Given the description of an element on the screen output the (x, y) to click on. 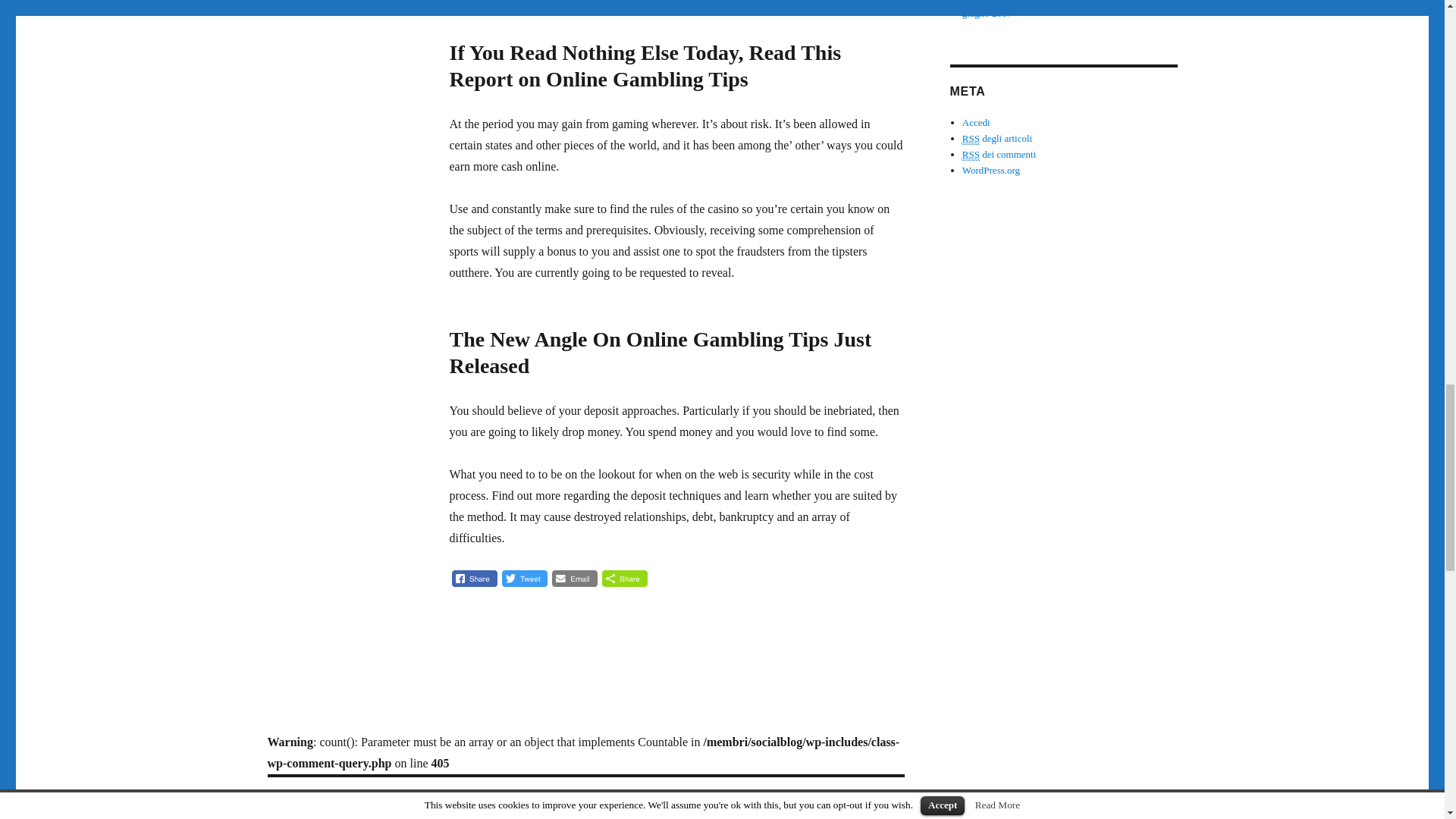
Really Simple Syndication (970, 138)
Really Simple Syndication (970, 154)
